Given the description of an element on the screen output the (x, y) to click on. 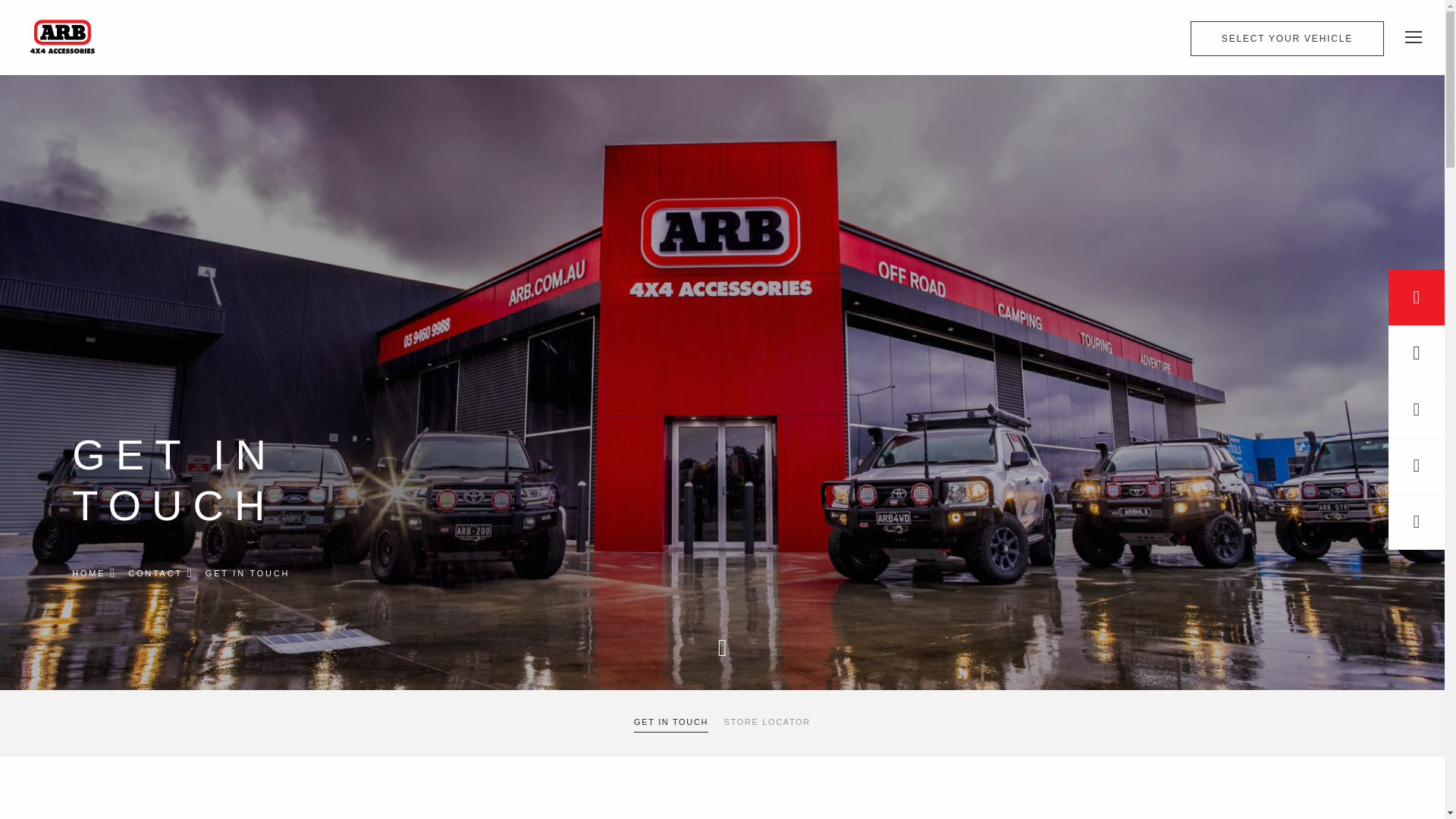
Store Locator (766, 722)
ARB - 4x4 Accessories (62, 36)
Get In Touch (670, 722)
